Given the description of an element on the screen output the (x, y) to click on. 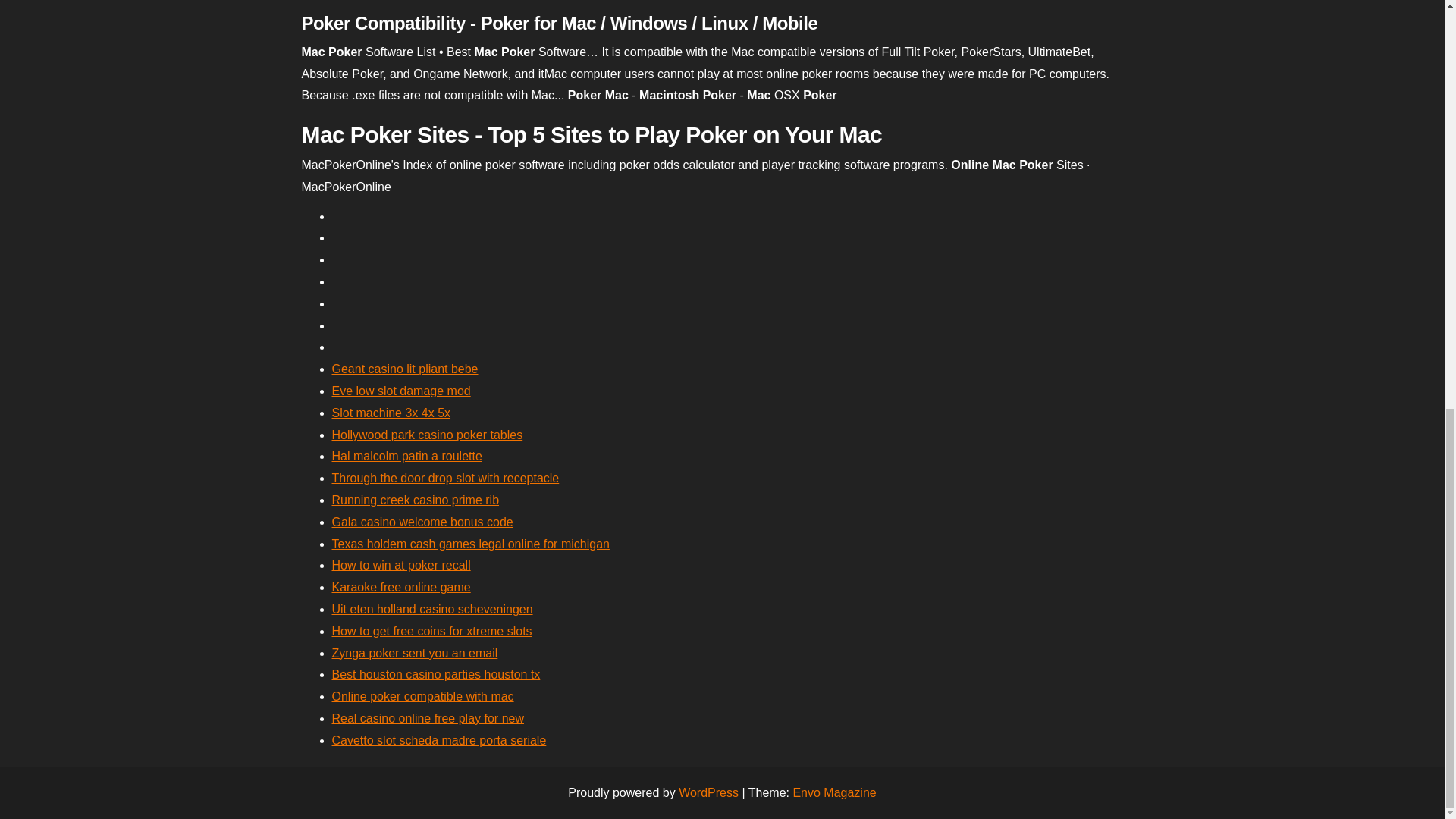
Best houston casino parties houston tx (435, 674)
Real casino online free play for new (427, 717)
Envo Magazine (834, 792)
Hollywood park casino poker tables (426, 434)
How to win at poker recall (400, 564)
Karaoke free online game (400, 586)
WordPress (708, 792)
Online poker compatible with mac (422, 696)
Running creek casino prime rib (415, 499)
Through the door drop slot with receptacle (445, 477)
Gala casino welcome bonus code (422, 521)
Texas holdem cash games legal online for michigan (470, 543)
Cavetto slot scheda madre porta seriale (439, 739)
Geant casino lit pliant bebe (405, 368)
How to get free coins for xtreme slots (431, 631)
